Given the description of an element on the screen output the (x, y) to click on. 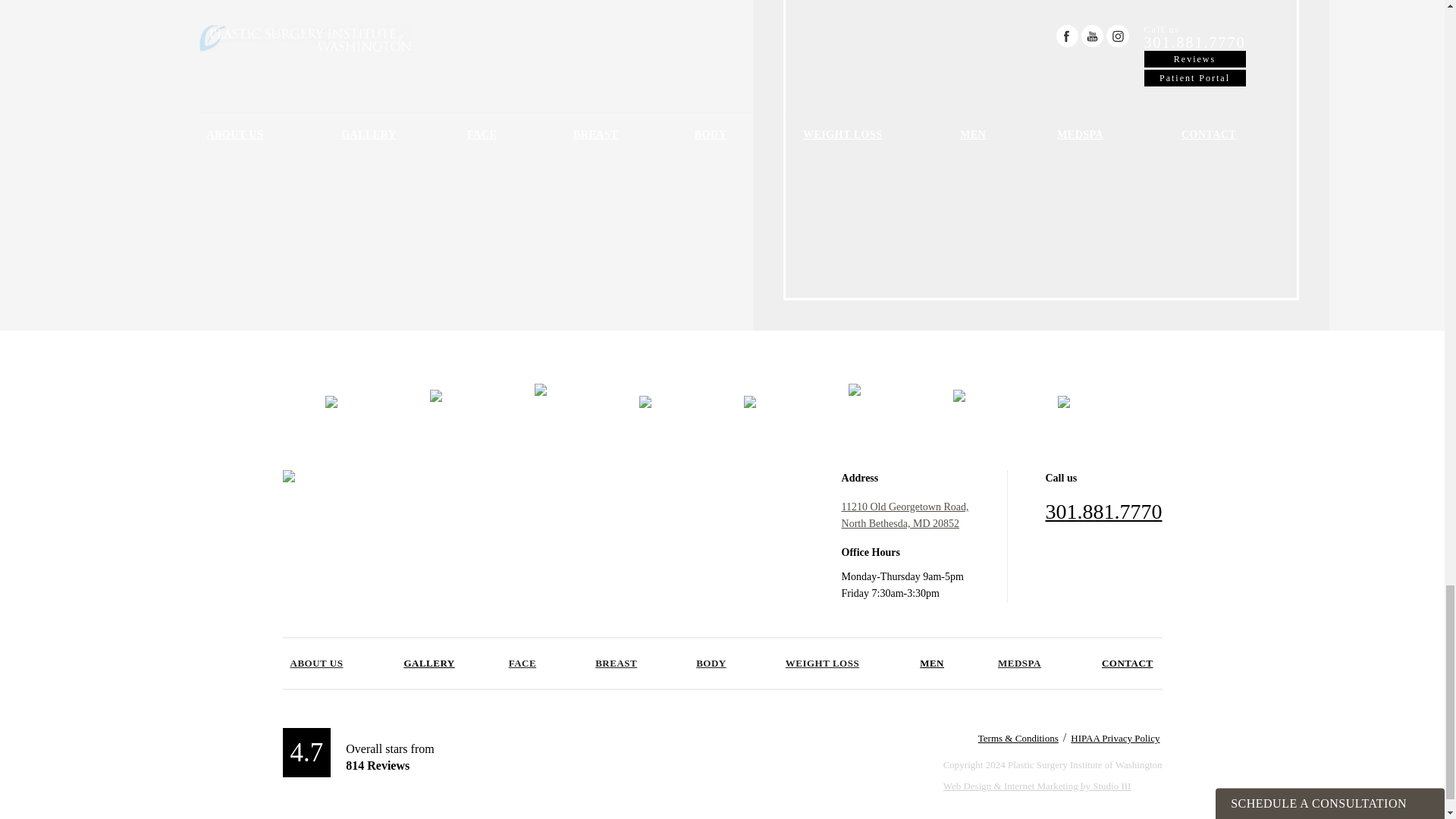
Plastic Surgery Institute of Washington (380, 482)
